Given the description of an element on the screen output the (x, y) to click on. 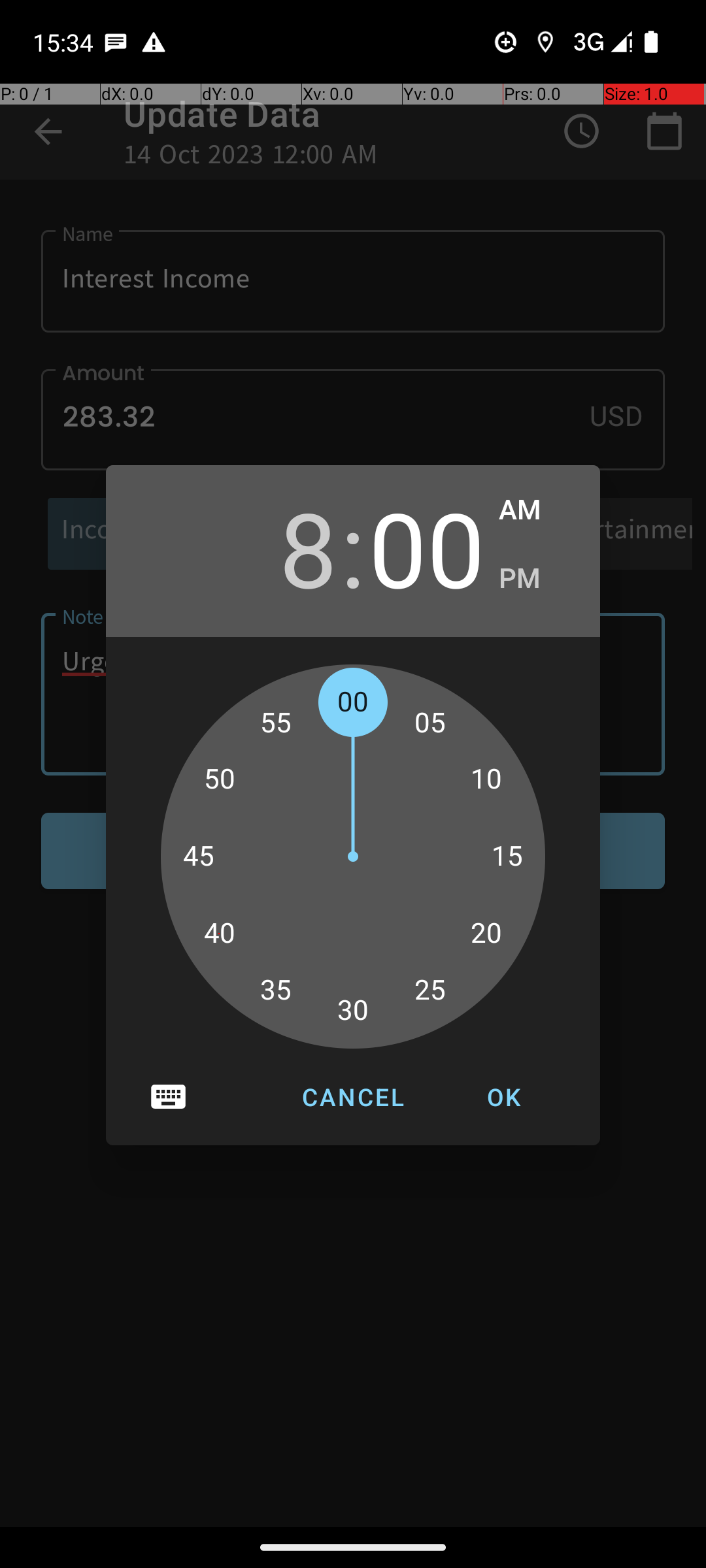
AM Element type: android.widget.RadioButton (535, 510)
PM Element type: android.widget.RadioButton (535, 578)
